Given the description of an element on the screen output the (x, y) to click on. 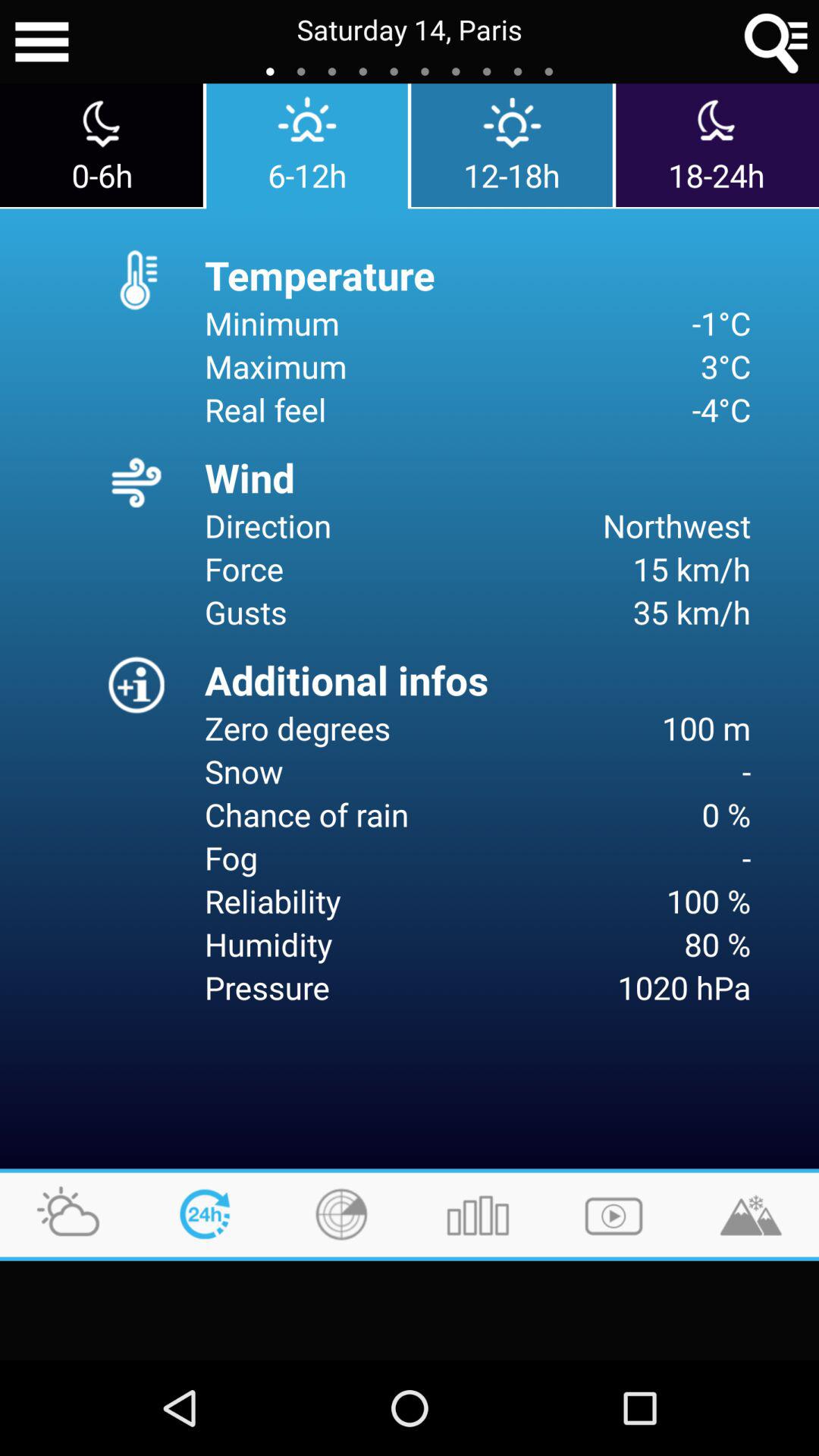
open menu (41, 41)
